Given the description of an element on the screen output the (x, y) to click on. 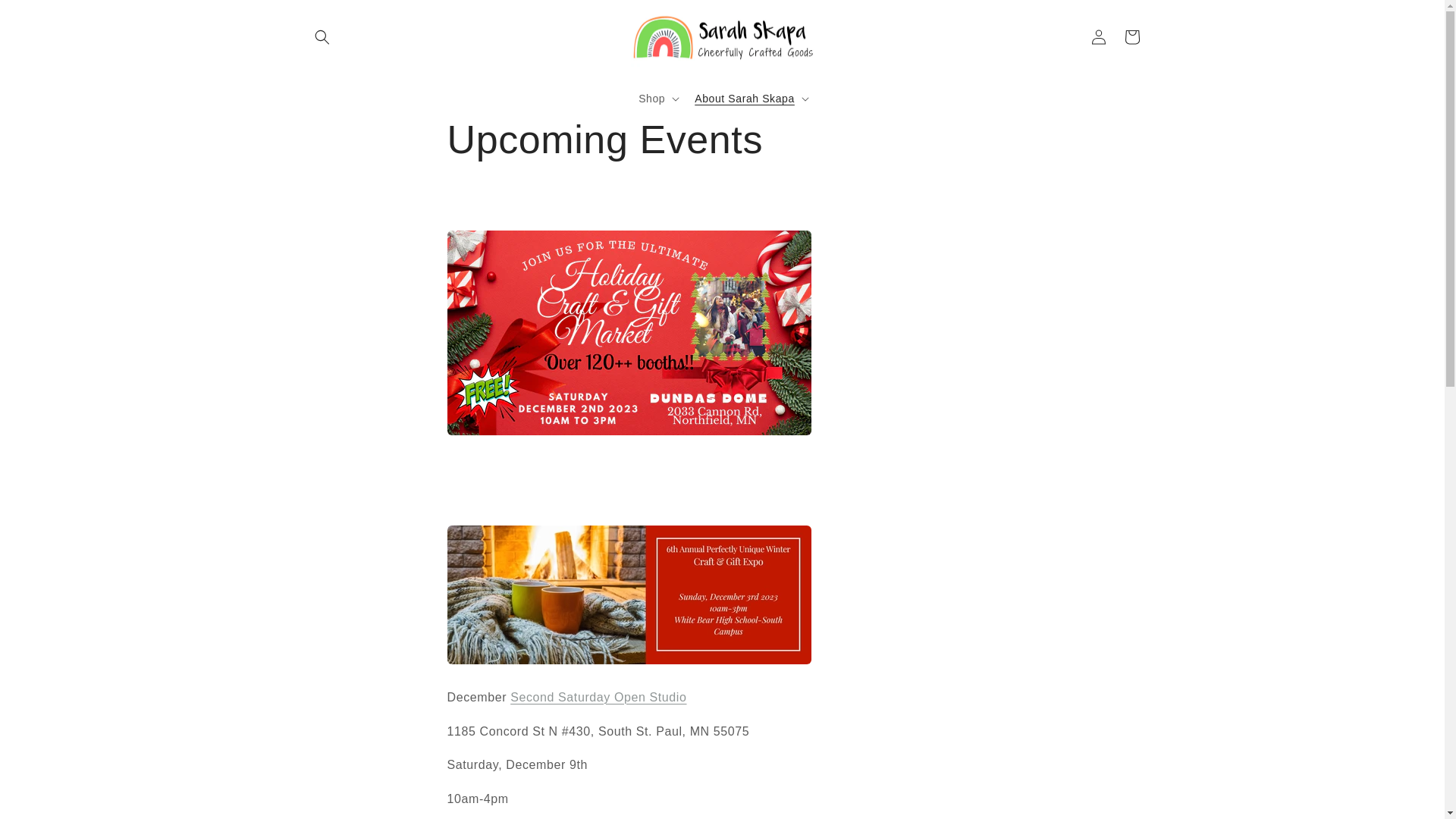
Skip to content (45, 17)
Cart (1131, 37)
Log in (1098, 37)
